Given the description of an element on the screen output the (x, y) to click on. 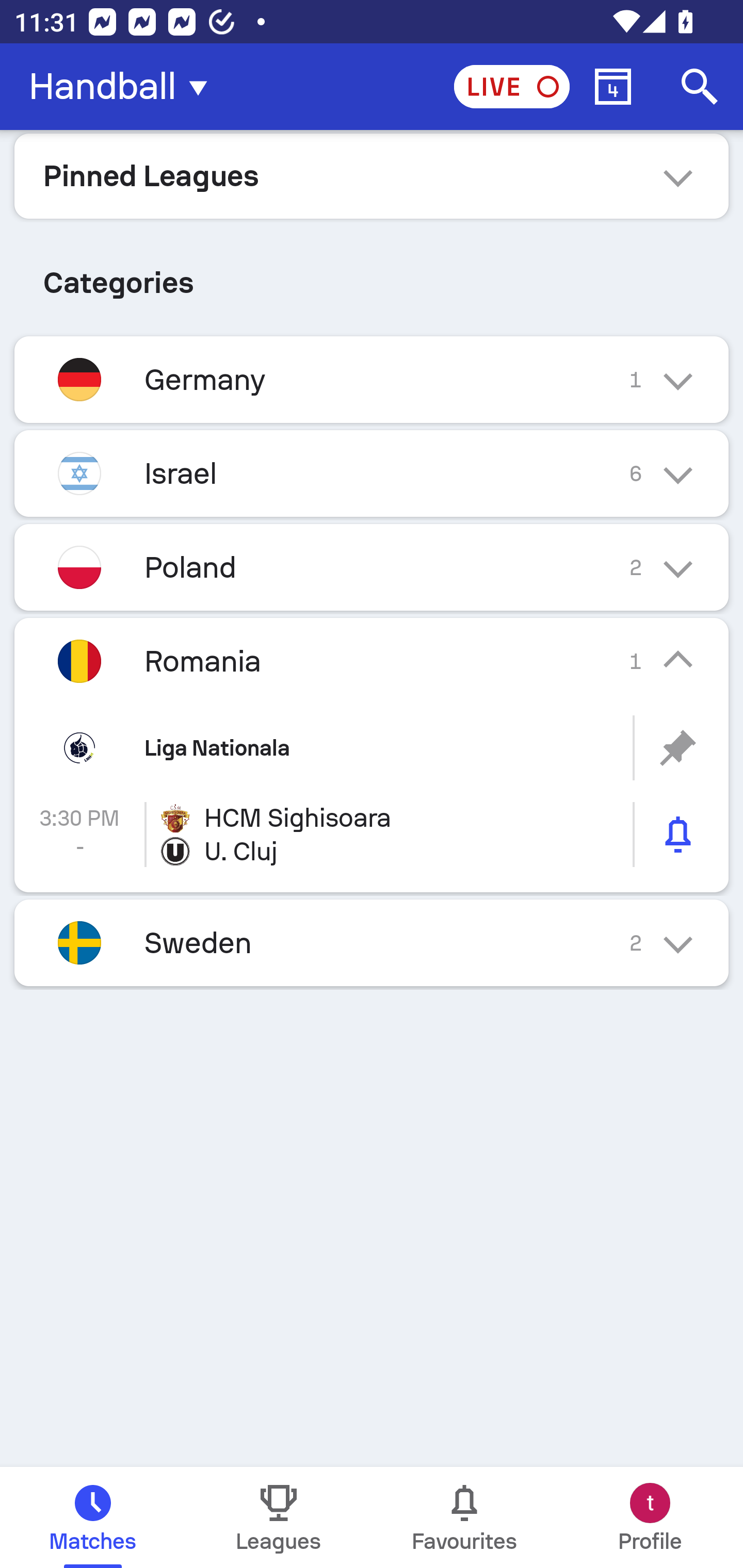
Handball (124, 86)
Calendar (612, 86)
Search (699, 86)
Pinned Leagues (371, 175)
Categories (371, 275)
Germany 1 (371, 379)
Israel 6 (371, 473)
Poland 2 (371, 566)
Romania 1 (371, 660)
Liga Nationala (371, 747)
3:30 PM - HCM Sighisoara U. Cluj (371, 834)
Sweden 2 (371, 943)
Leagues (278, 1517)
Favourites (464, 1517)
Profile (650, 1517)
